Given the description of an element on the screen output the (x, y) to click on. 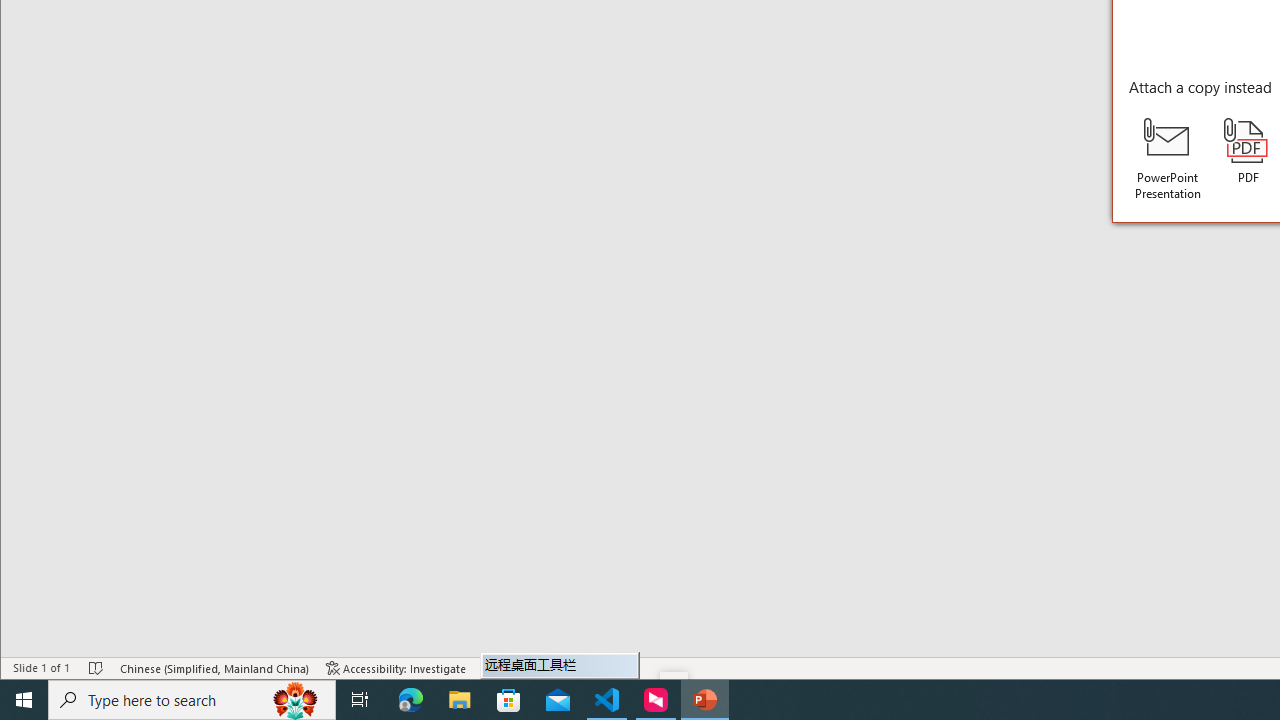
PDF (1247, 151)
PowerPoint Presentation (1167, 159)
